Given the description of an element on the screen output the (x, y) to click on. 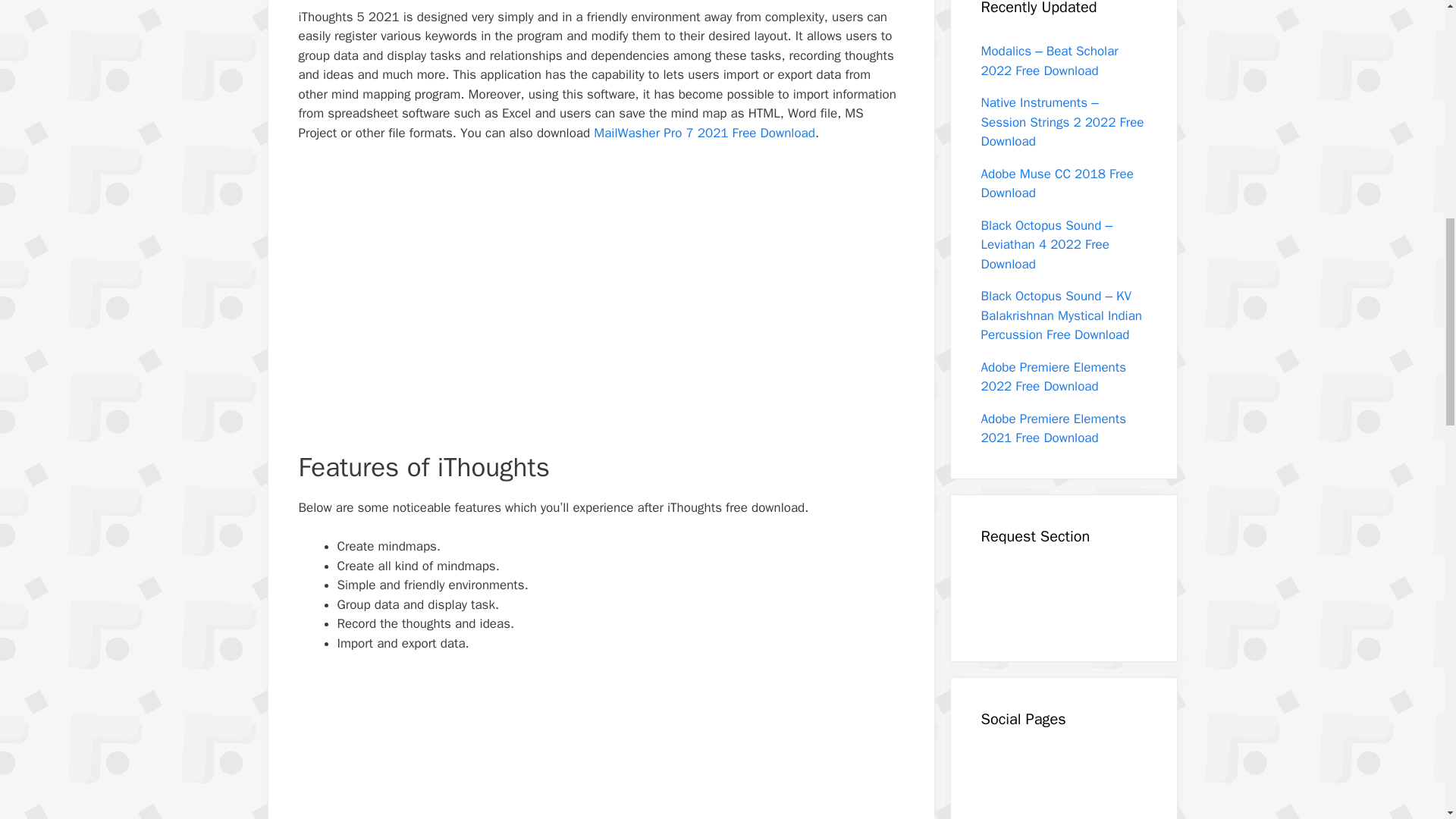
MailWasher Pro 7 2021 Free Download (704, 132)
Scroll back to top (1406, 720)
